Given the description of an element on the screen output the (x, y) to click on. 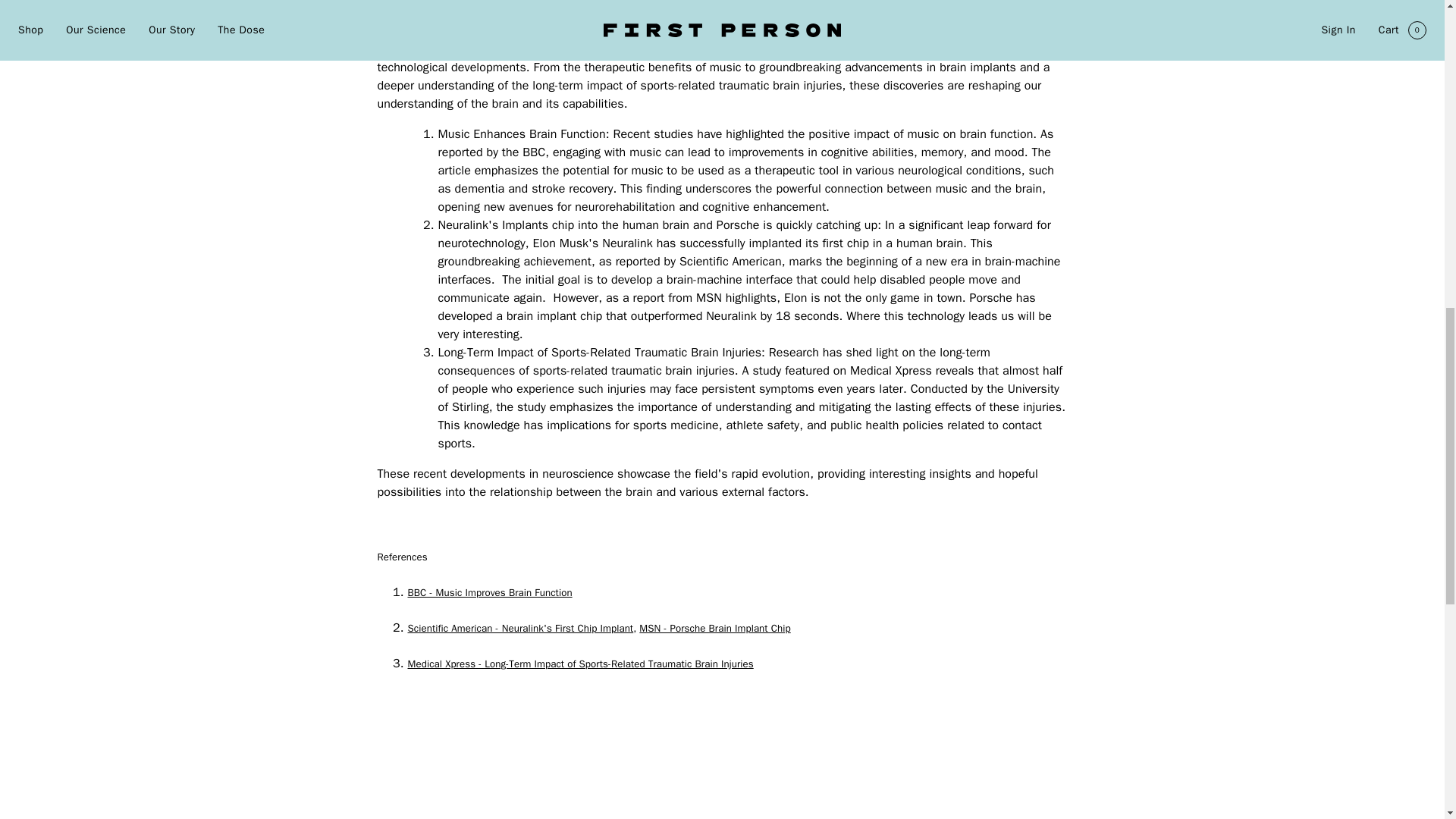
BBC - Music Improves Brain Function (489, 592)
MSN - Porsche Brain Implant Chip (714, 627)
Scientific American - Neuralink's First Chip Implant (520, 627)
